Given the description of an element on the screen output the (x, y) to click on. 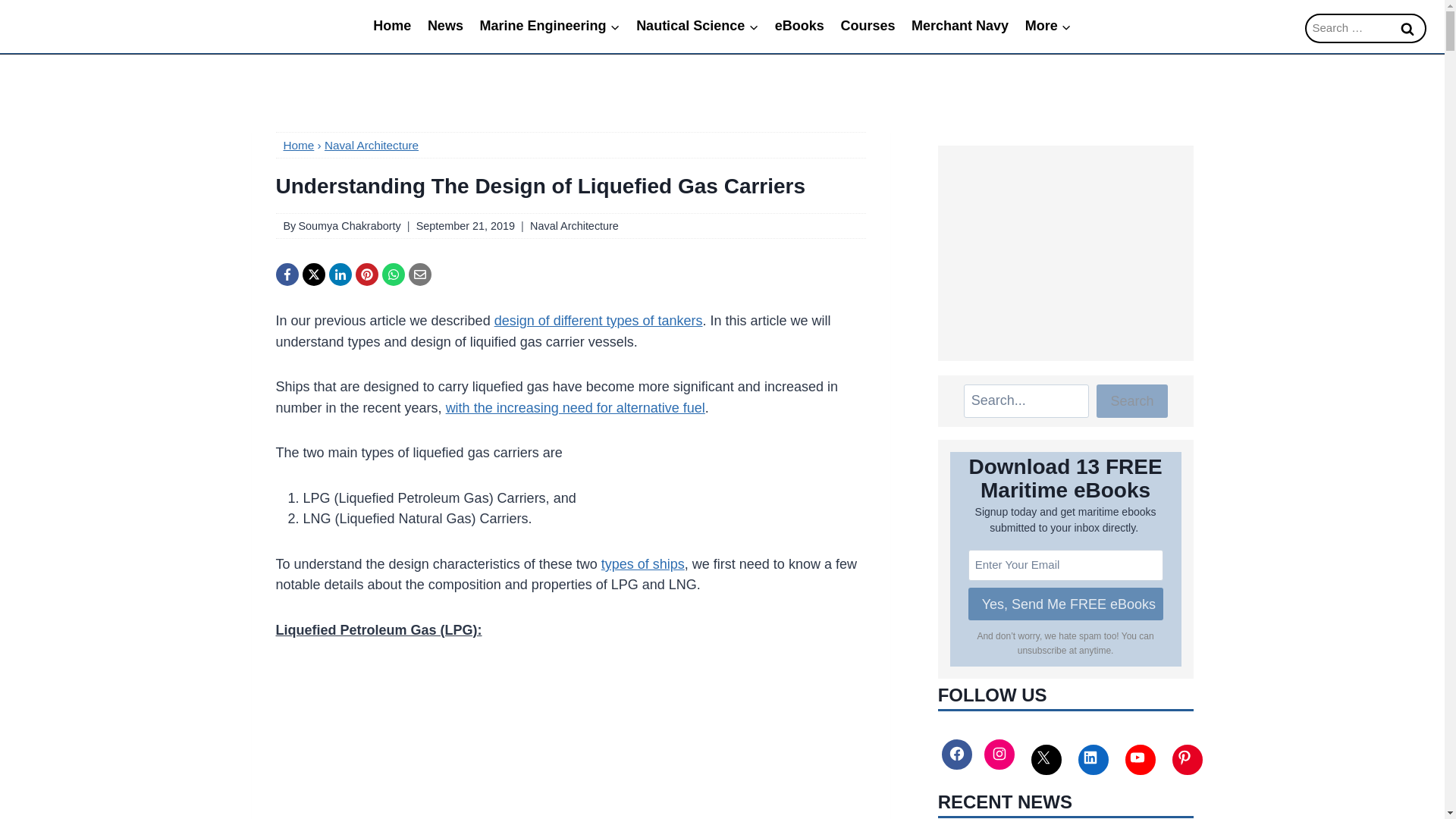
Search (1407, 28)
Merchant Navy (959, 26)
Soumya Chakraborty (349, 225)
eBooks (799, 26)
Naval Architecture (371, 144)
Nautical Science (697, 26)
Home (392, 26)
Naval Architecture (573, 225)
Home (298, 144)
More (1048, 26)
